Given the description of an element on the screen output the (x, y) to click on. 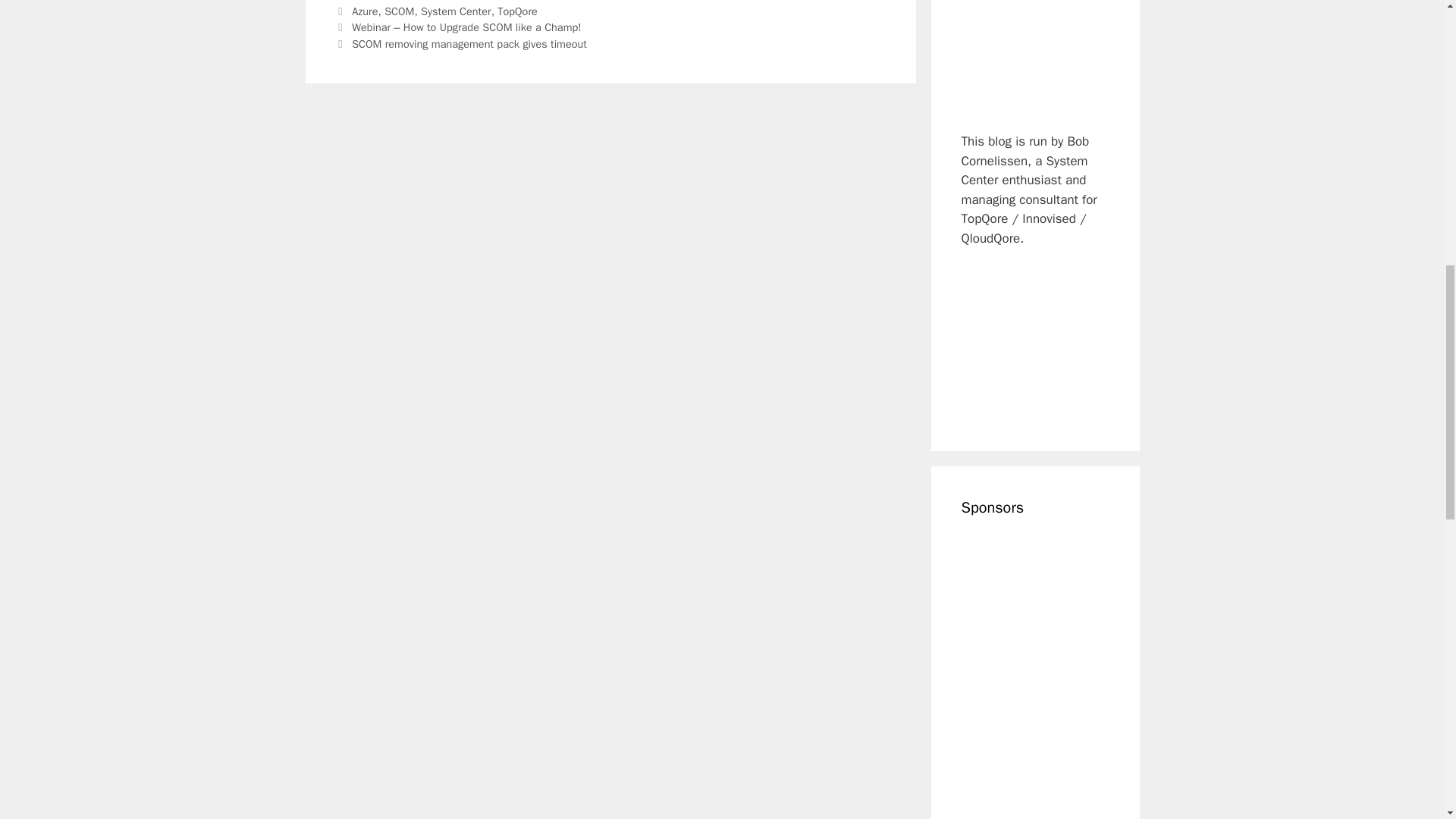
SCOM (398, 11)
TopQore (517, 11)
Azure (364, 11)
System Center (456, 11)
SCOM removing management pack gives timeout (469, 43)
